Given the description of an element on the screen output the (x, y) to click on. 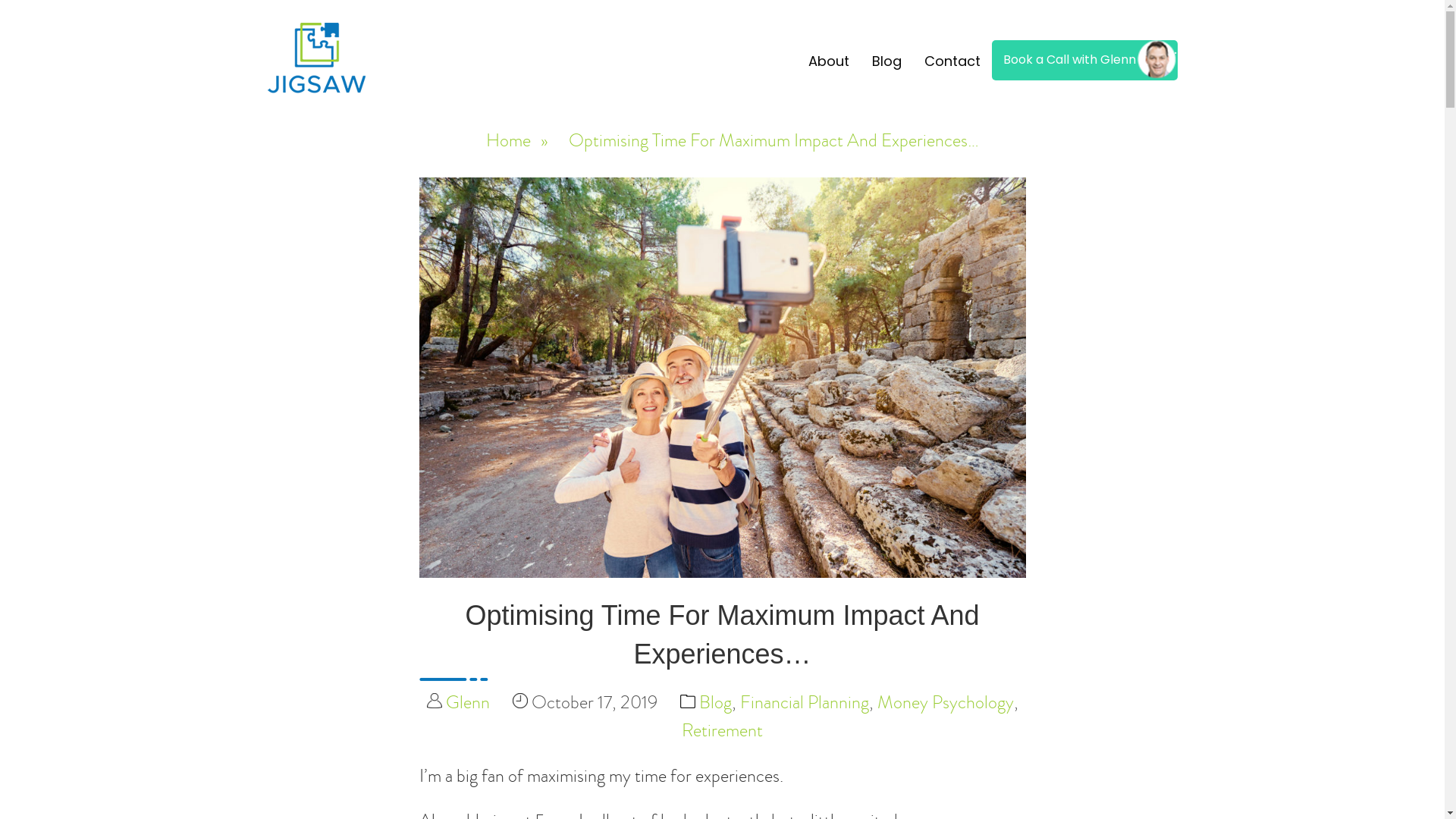
Financial Planning Element type: text (804, 702)
Book a Call with Glenn Element type: text (1084, 59)
Home Element type: text (507, 132)
Money Psychology Element type: text (944, 702)
Retirement Element type: text (721, 730)
Contact Element type: text (952, 60)
Blog Element type: text (885, 60)
Blog Element type: text (715, 702)
Glenn Element type: text (467, 702)
About Element type: text (827, 60)
